Given the description of an element on the screen output the (x, y) to click on. 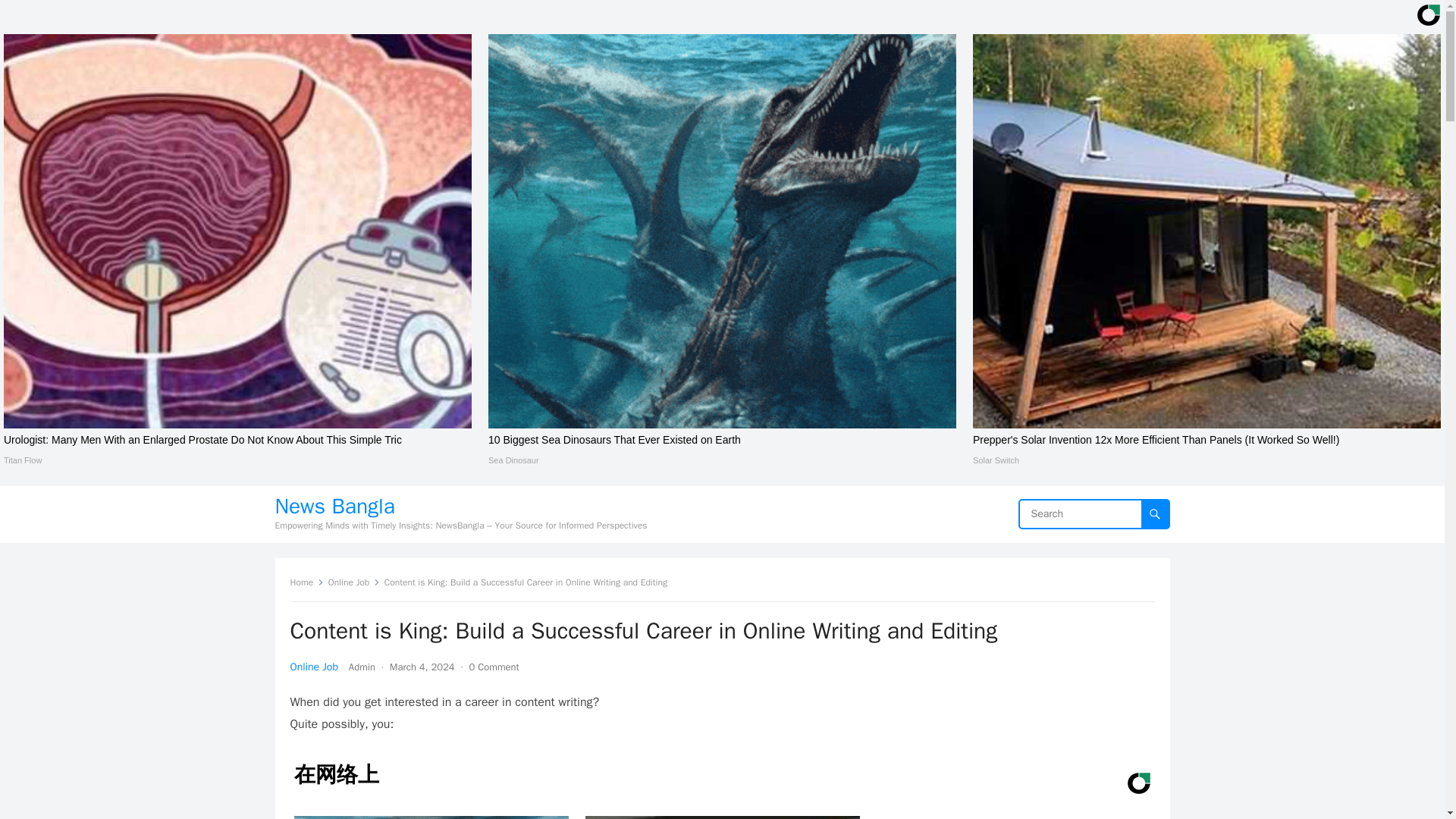
Admin (362, 666)
Posts by Admin (362, 666)
News Bangla (460, 506)
Online Job (354, 582)
Home (306, 582)
Online Job (313, 666)
0 Comment (493, 666)
